Given the description of an element on the screen output the (x, y) to click on. 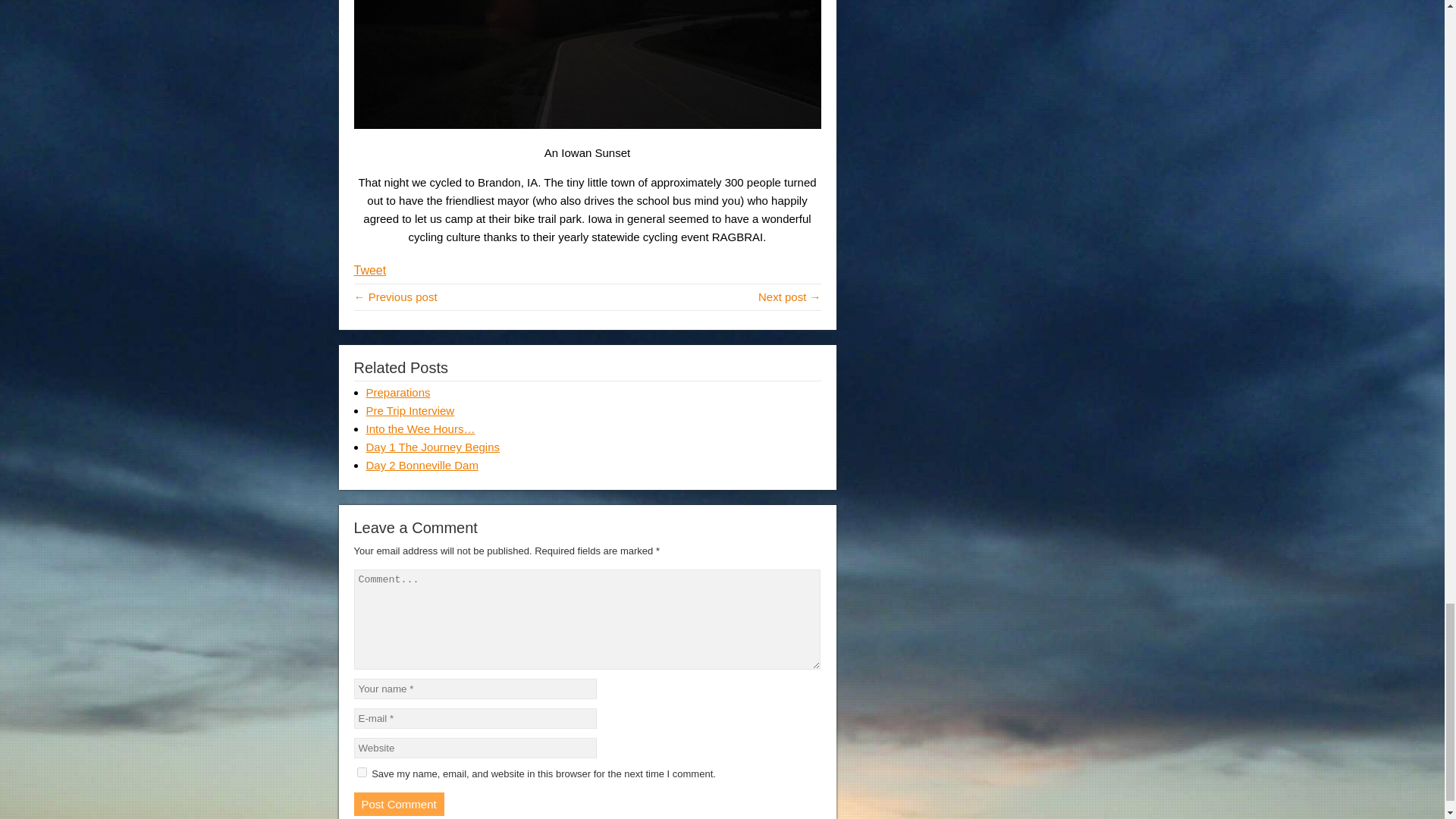
Day 1 The Journey Begins (432, 446)
Day 2 Bonneville Dam (421, 464)
yes (361, 772)
Day 47 Attack Dog (789, 296)
Tweet (369, 269)
Post Comment (398, 803)
Pre Trip Interview (409, 410)
Iowan Sunset (587, 64)
Preparations (397, 391)
Post Comment (398, 803)
Day 49 Americana (394, 296)
